Given the description of an element on the screen output the (x, y) to click on. 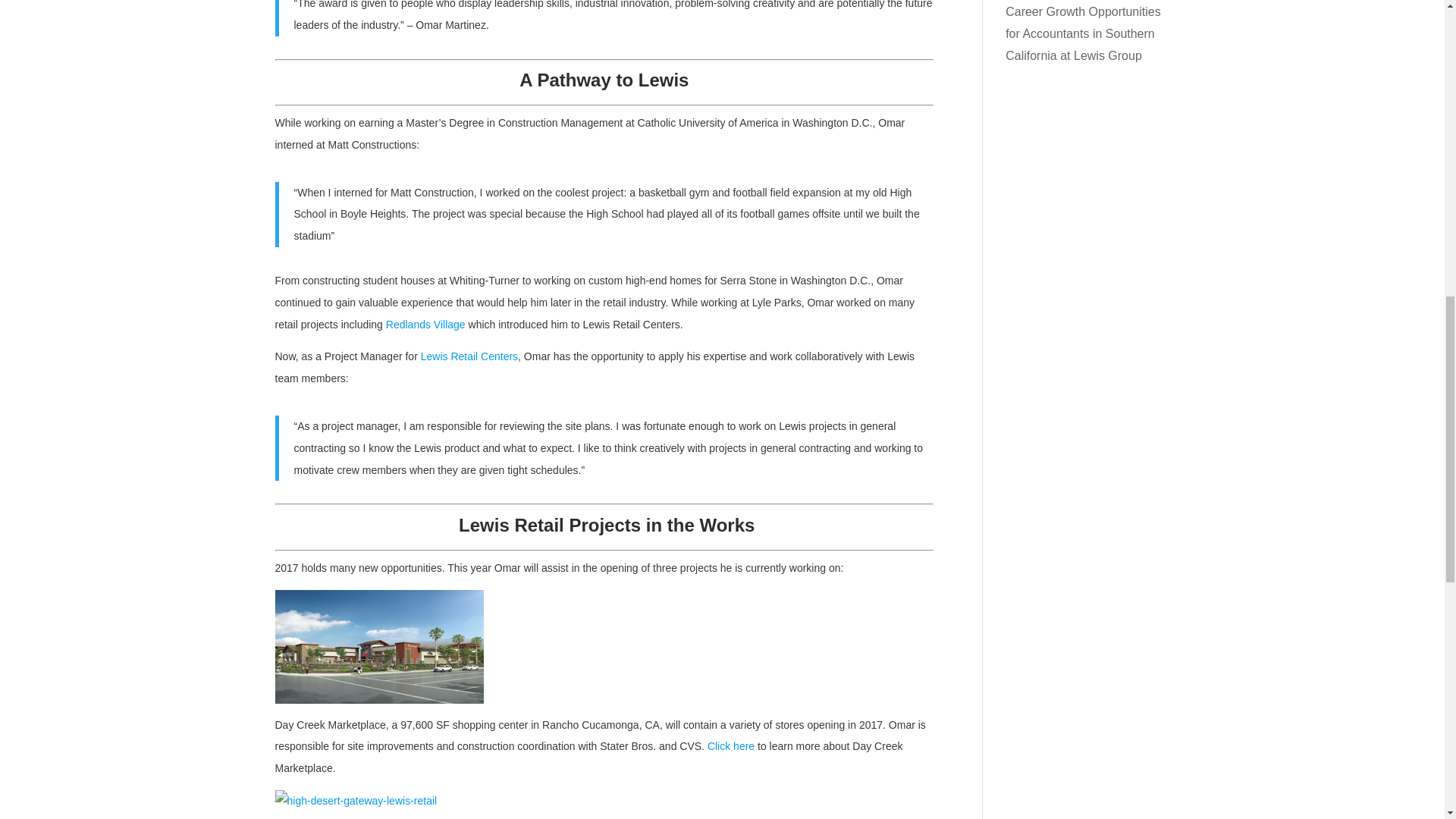
Click here (730, 746)
Lewis Retail Centers (469, 356)
Omar-Blog-Daycreek (379, 646)
Redlands Village (425, 324)
